Given the description of an element on the screen output the (x, y) to click on. 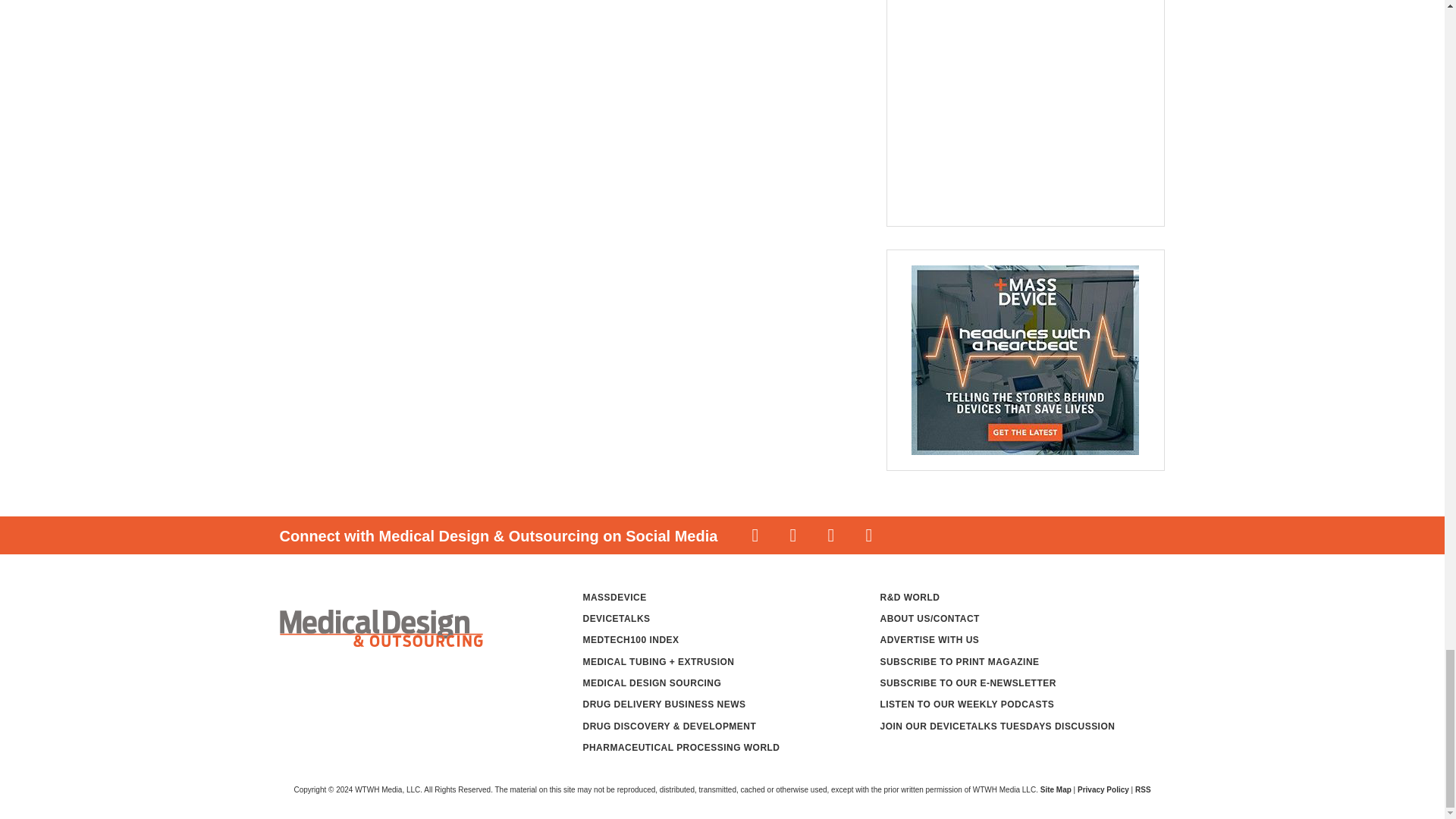
3rd party ad content (1015, 104)
